Given the description of an element on the screen output the (x, y) to click on. 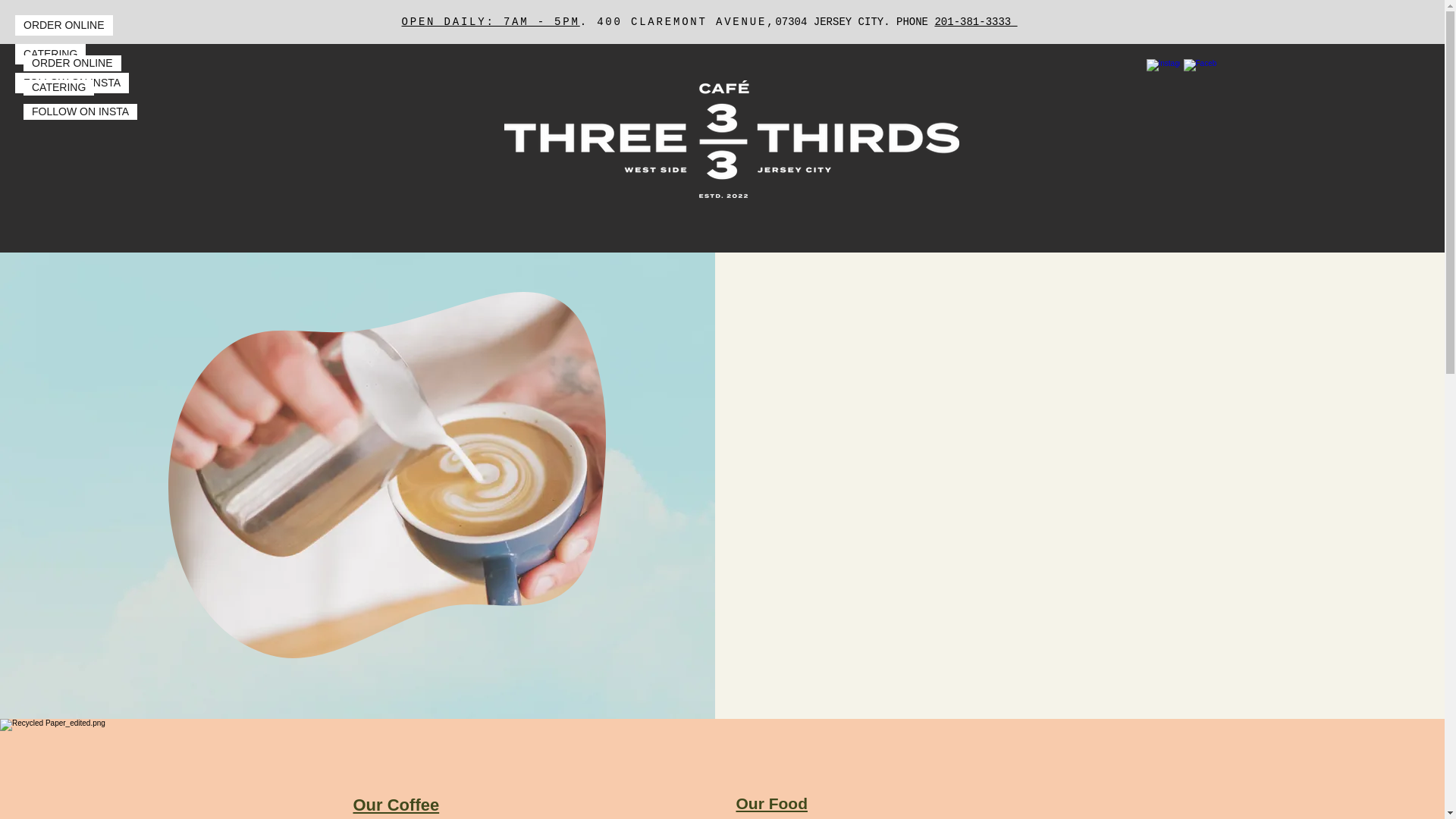
FOLLOW ON INSTA (79, 111)
FOLLOW ON INSTA (71, 82)
ORDER ONLINE (71, 63)
201-381-3333  (975, 21)
CATERING (58, 87)
ORDER ONLINE (63, 25)
CATERING (49, 54)
